Given the description of an element on the screen output the (x, y) to click on. 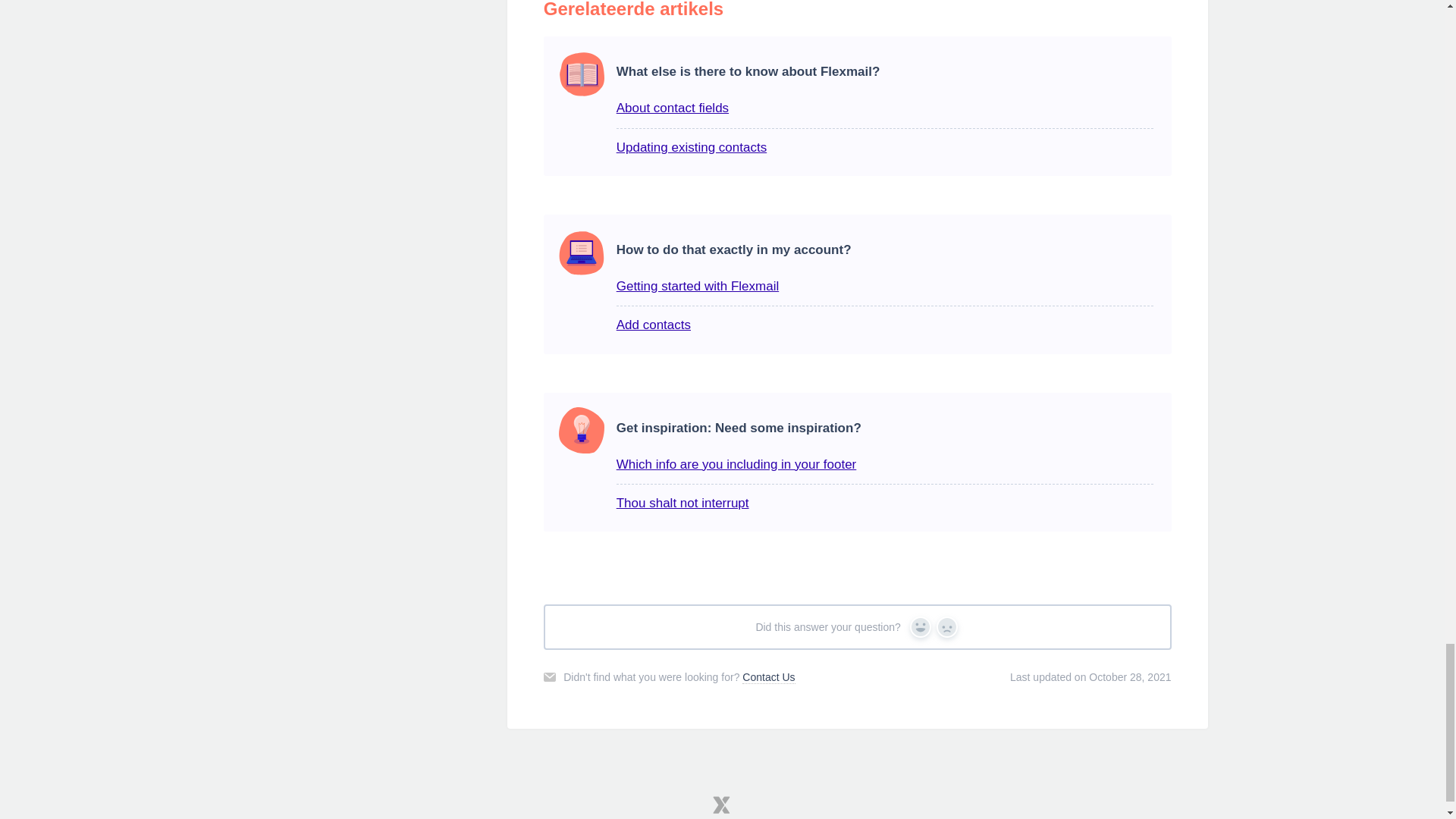
Which info are you including in your footer (736, 464)
Updating existing contacts (691, 147)
Add contacts (652, 324)
Yes (920, 627)
Getting started with Flexmail (696, 286)
No (947, 627)
Contact Us (768, 676)
Thou shalt not interrupt (682, 503)
About contact fields (672, 107)
